Given the description of an element on the screen output the (x, y) to click on. 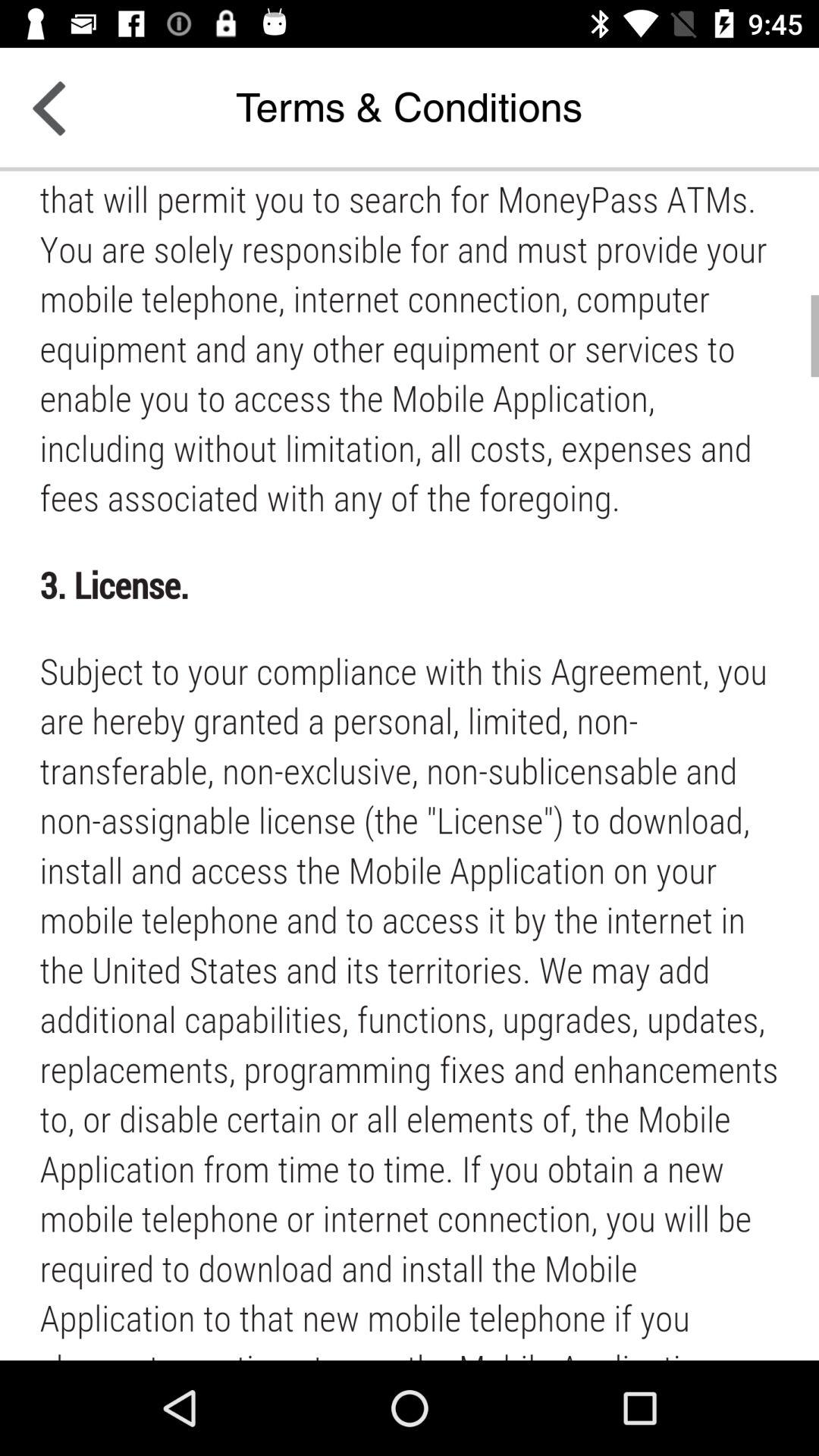
advertisement (409, 765)
